Given the description of an element on the screen output the (x, y) to click on. 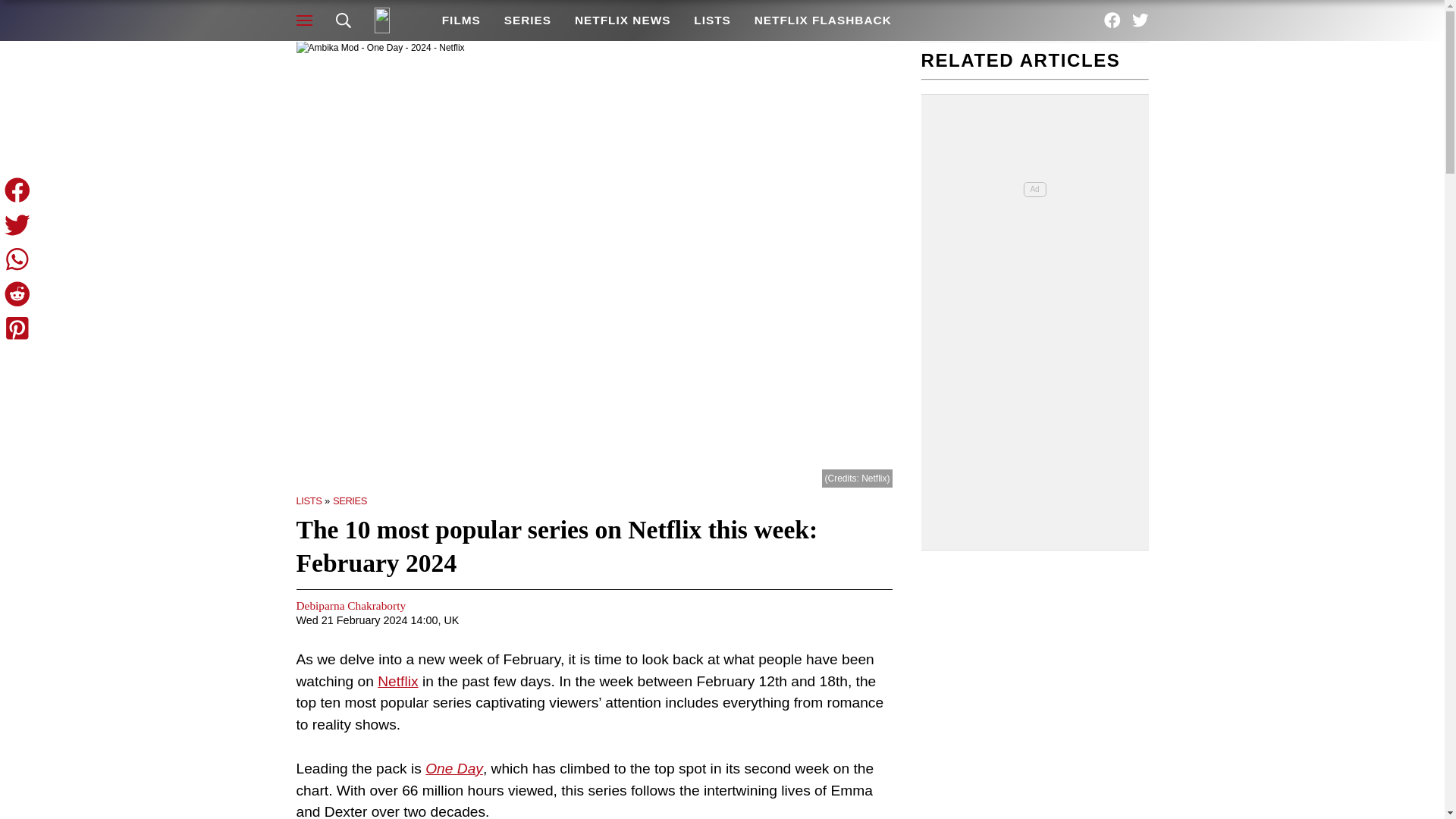
NETFLIX NEWS (621, 20)
SERIES (527, 20)
SERIES (349, 500)
Netflix (397, 681)
FILMS (460, 20)
Best Of Netflix (396, 20)
Debiparna Chakraborty (350, 605)
LISTS (308, 500)
Best Of Netflix on Twitter (1140, 20)
LISTS (712, 20)
